Given the description of an element on the screen output the (x, y) to click on. 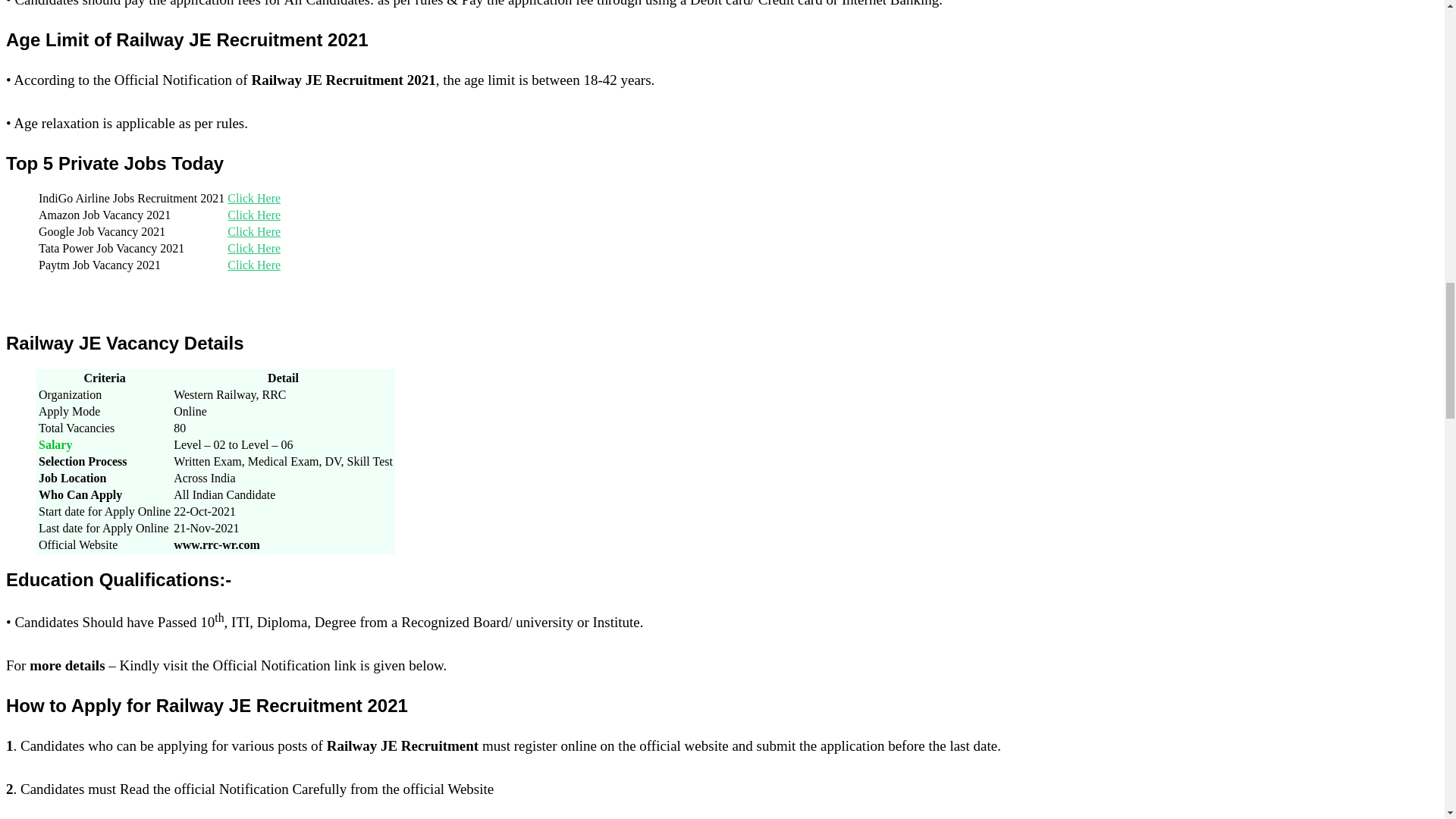
Click Here (254, 247)
Click Here (254, 264)
Click Here (254, 214)
Click Here (254, 197)
Click Here (254, 231)
